Given the description of an element on the screen output the (x, y) to click on. 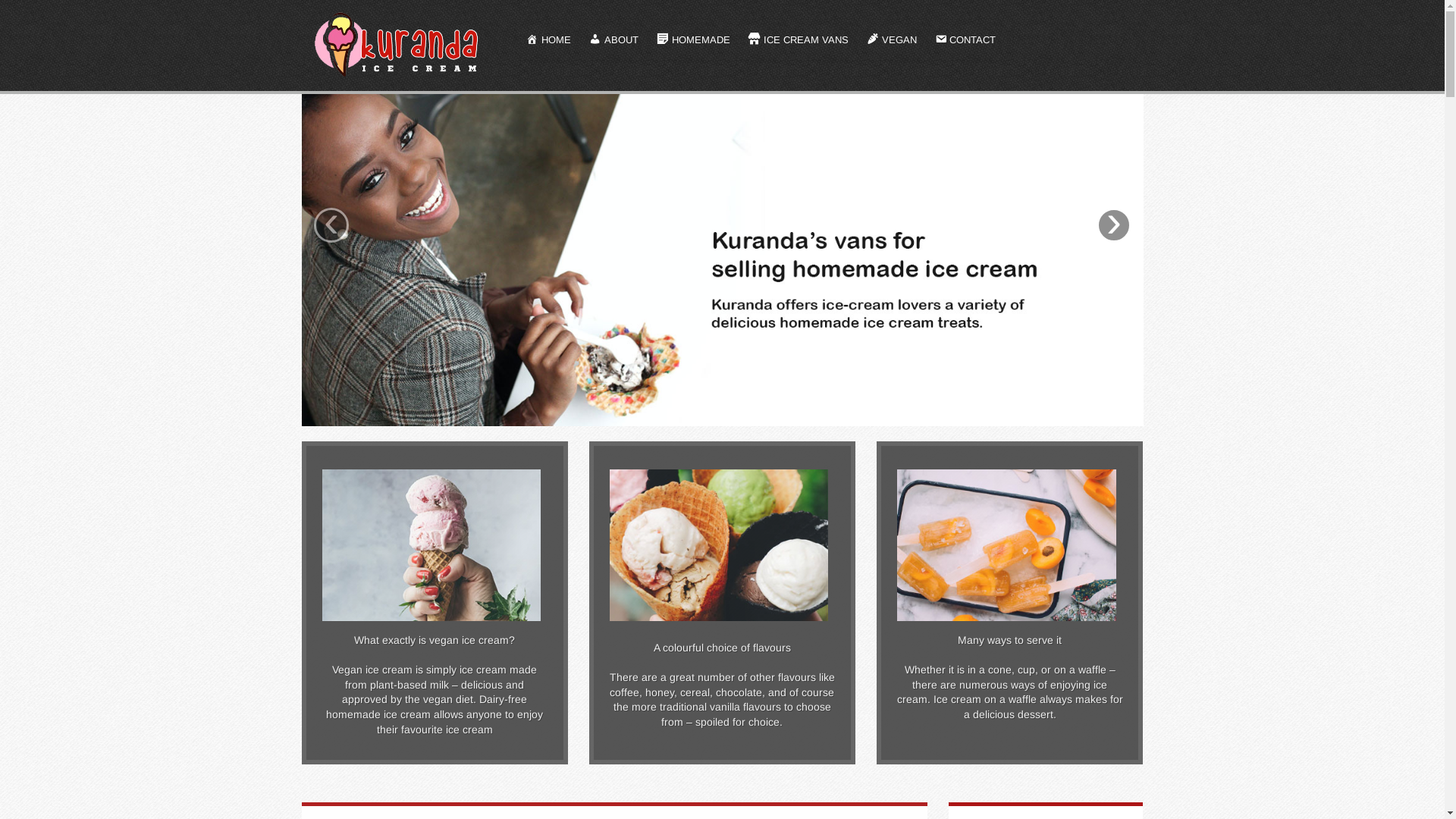
Kuranda Ice Cream Element type: hover (398, 44)
ICE CREAM VANS Element type: text (798, 41)
HOME Element type: text (548, 41)
ABOUT Element type: text (613, 41)
HOMEMADE Element type: text (693, 41)
VEGAN Element type: text (891, 41)
CONTACT Element type: text (965, 41)
